Given the description of an element on the screen output the (x, y) to click on. 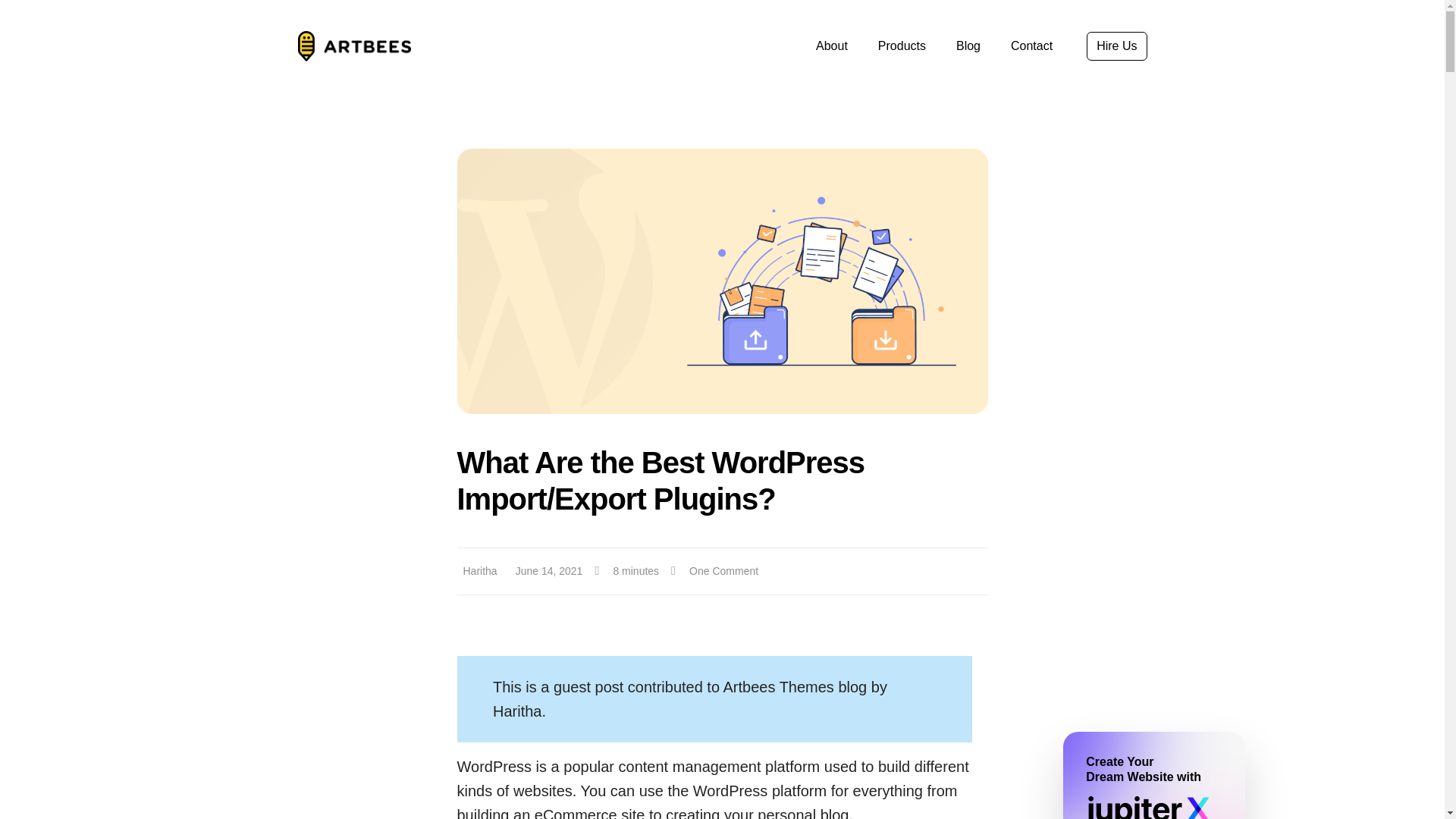
Contact (1031, 46)
About (832, 46)
June 14, 2021 (546, 571)
Hire Us (1116, 45)
Haritha (476, 571)
Products (901, 46)
Blog (968, 46)
One Comment (714, 571)
